Given the description of an element on the screen output the (x, y) to click on. 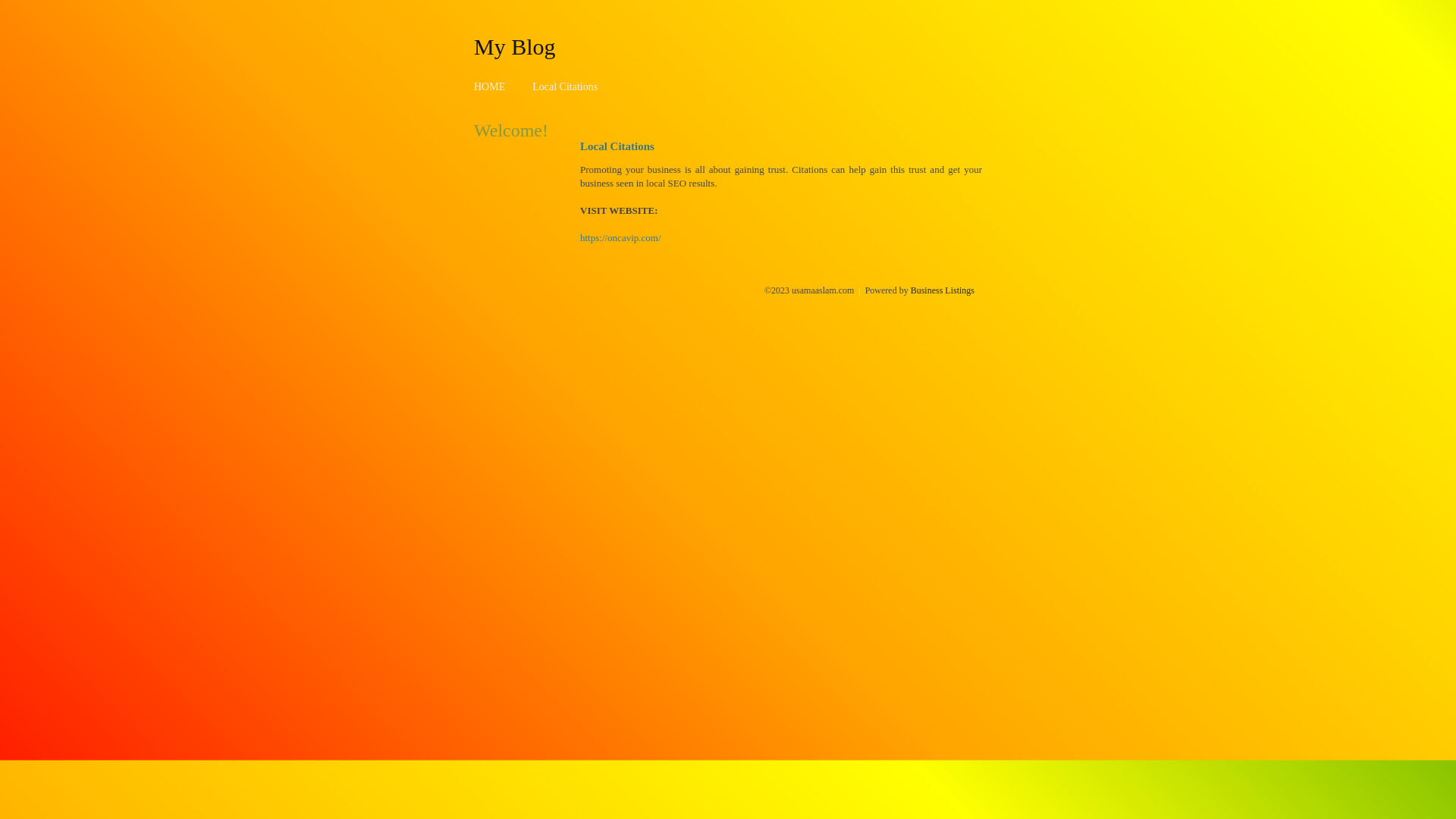
Local Citations Element type: text (564, 86)
My Blog Element type: text (514, 46)
https://oncavip.com/ Element type: text (620, 237)
HOME Element type: text (489, 86)
Business Listings Element type: text (942, 290)
